Given the description of an element on the screen output the (x, y) to click on. 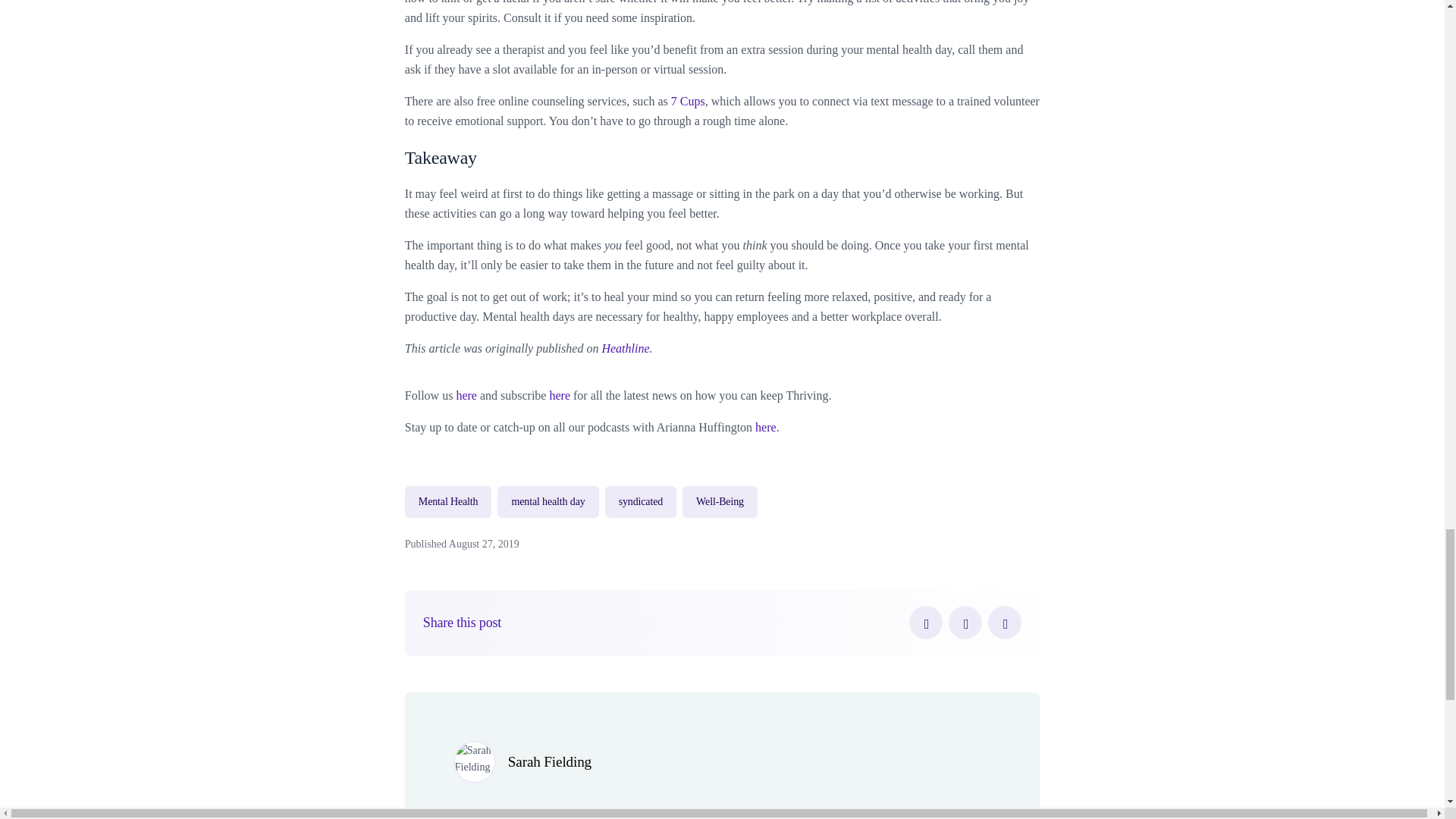
Facebook (925, 622)
Sarah Fielding (549, 761)
LinkedIn (1005, 622)
Twitter (965, 622)
